Given the description of an element on the screen output the (x, y) to click on. 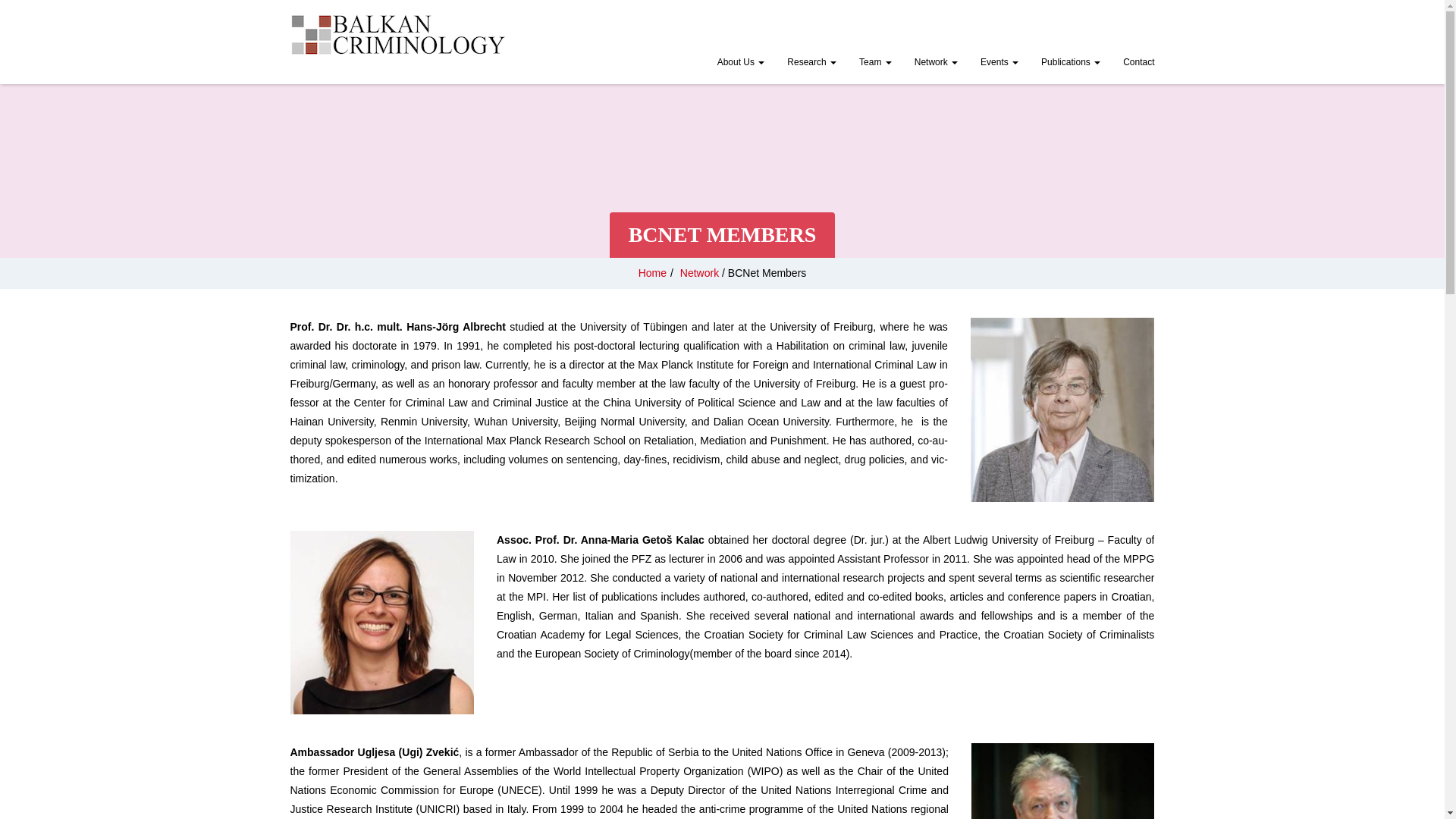
Team (874, 63)
Research (811, 63)
About Us (741, 63)
Events (999, 63)
Publications (1070, 63)
Research (811, 63)
Balkan Criminology (397, 34)
Network (935, 63)
About Us (741, 63)
